Given the description of an element on the screen output the (x, y) to click on. 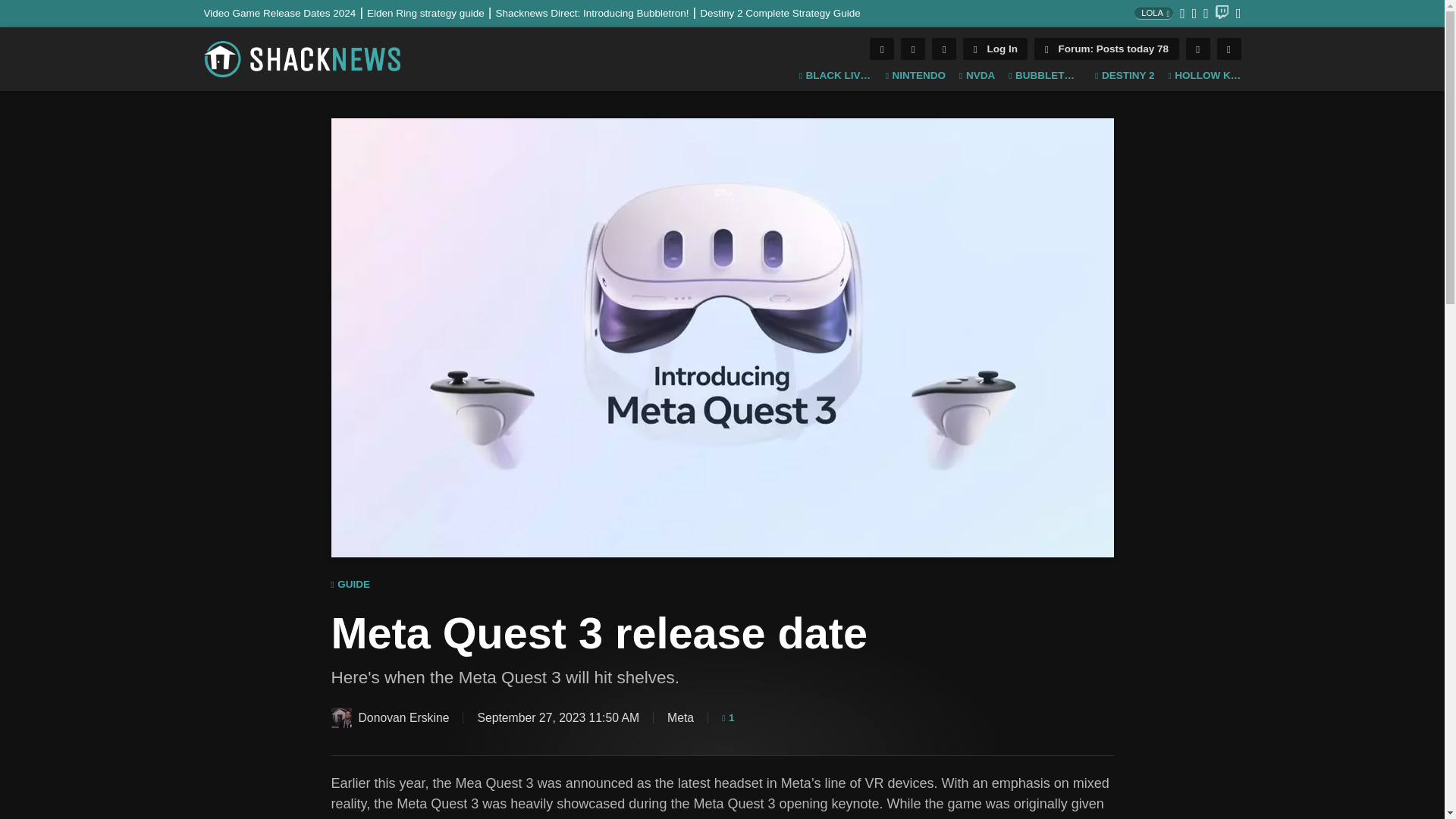
HOLLOW KNIGHT: SILKSONG (1203, 75)
Destiny 2 Complete Strategy Guide (780, 11)
Video Game Release Dates 2024 (284, 11)
DESTINY 2 (1124, 75)
NVDA (976, 75)
BUBBLETRON (1045, 75)
BLACK LIVES MATTER (835, 75)
Elden Ring strategy guide (430, 11)
NINTENDO (914, 75)
Donovan Erskine (340, 717)
Shacknews Direct: Introducing Bubbletron! (597, 11)
GUIDE (349, 584)
